Given the description of an element on the screen output the (x, y) to click on. 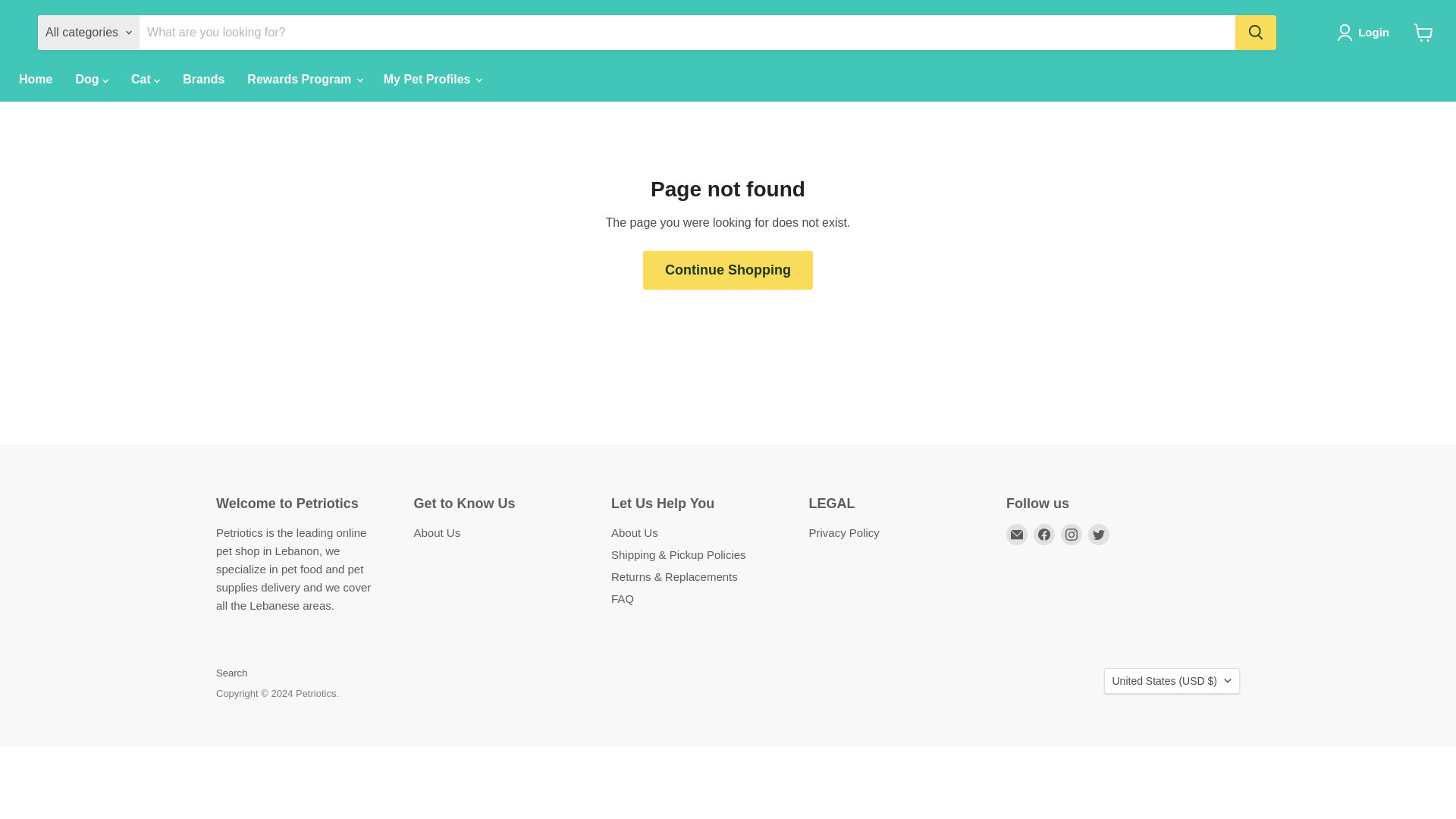
Home (35, 79)
Twitter (1098, 534)
View cart (1423, 32)
Login (1365, 32)
Facebook (1043, 534)
Instagram (1071, 534)
Email (1016, 534)
